Given the description of an element on the screen output the (x, y) to click on. 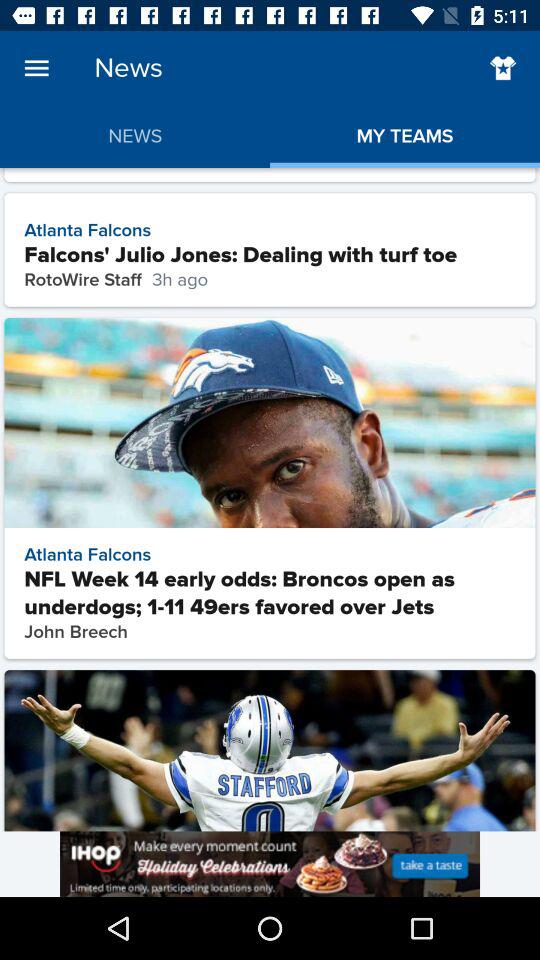
go back (502, 68)
